Given the description of an element on the screen output the (x, y) to click on. 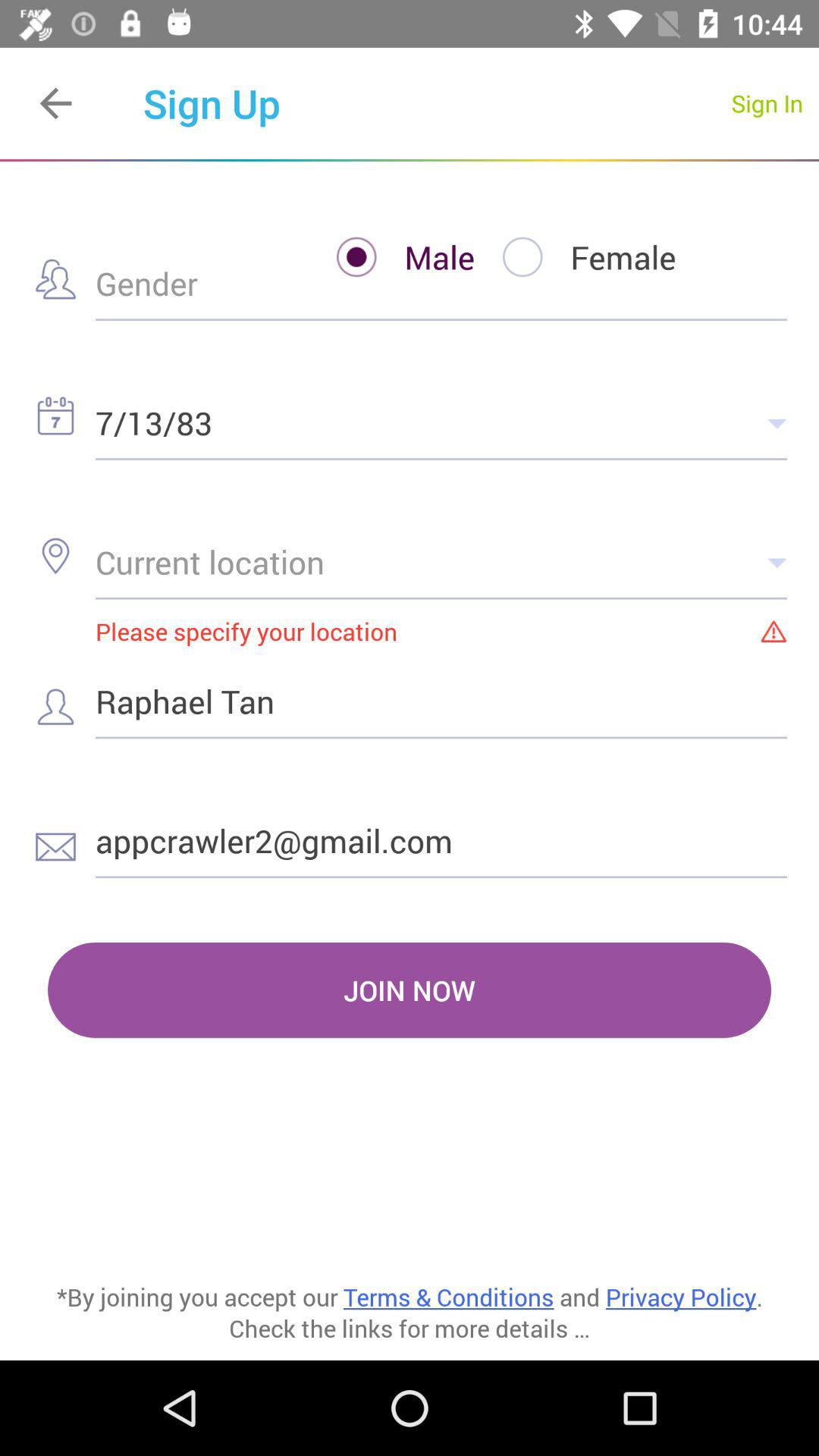
swipe to the appcrawler2@gmail.com (441, 840)
